Given the description of an element on the screen output the (x, y) to click on. 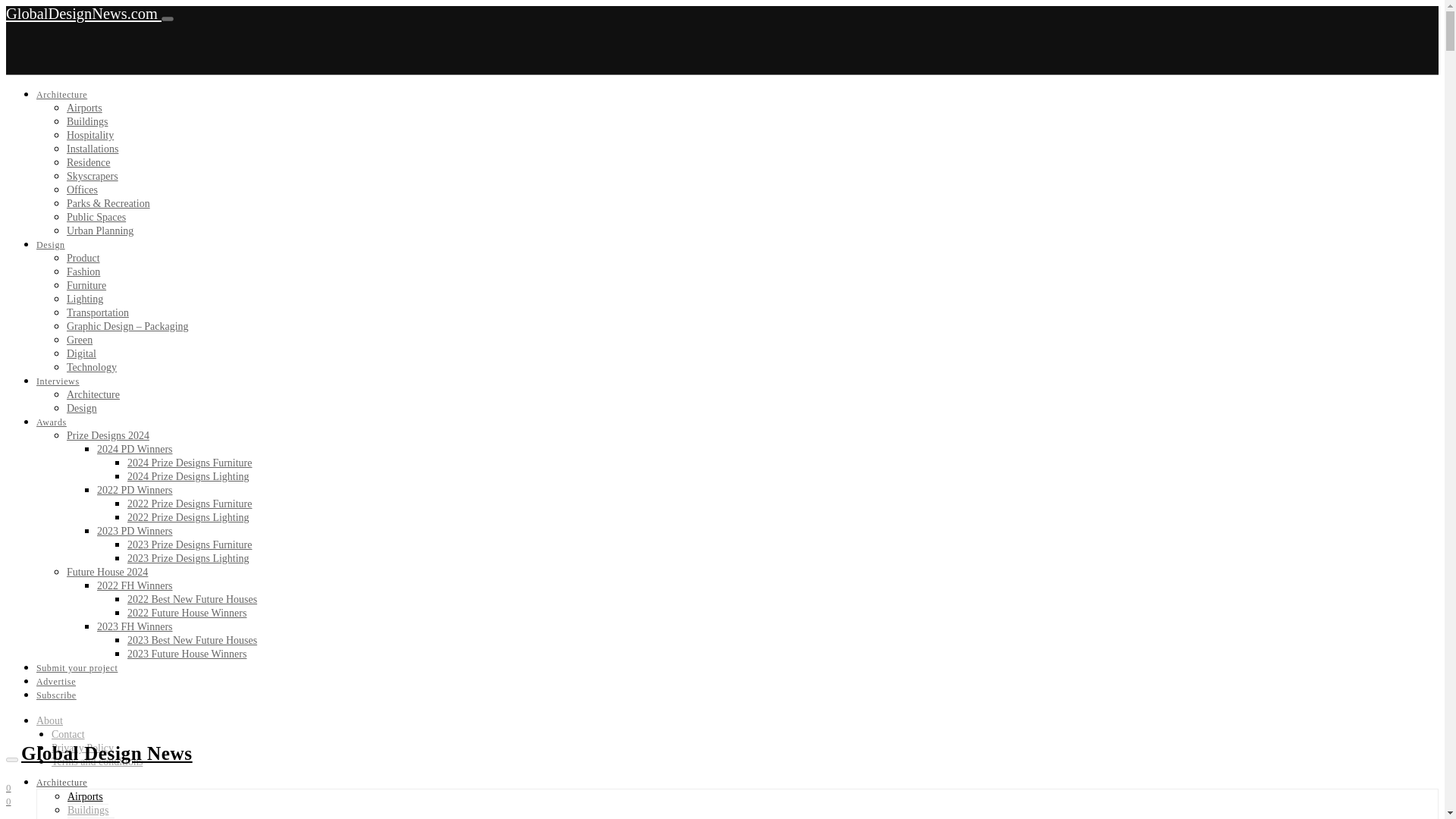
Product (83, 257)
Architecture (61, 94)
GlobalDesignNews.com (83, 13)
2023 Prize Designs Furniture (189, 544)
Buildings (86, 121)
2022 PD Winners (135, 490)
Airports (83, 107)
Architecture (92, 394)
Green (79, 339)
2022 Prize Designs Lighting (188, 517)
